Given the description of an element on the screen output the (x, y) to click on. 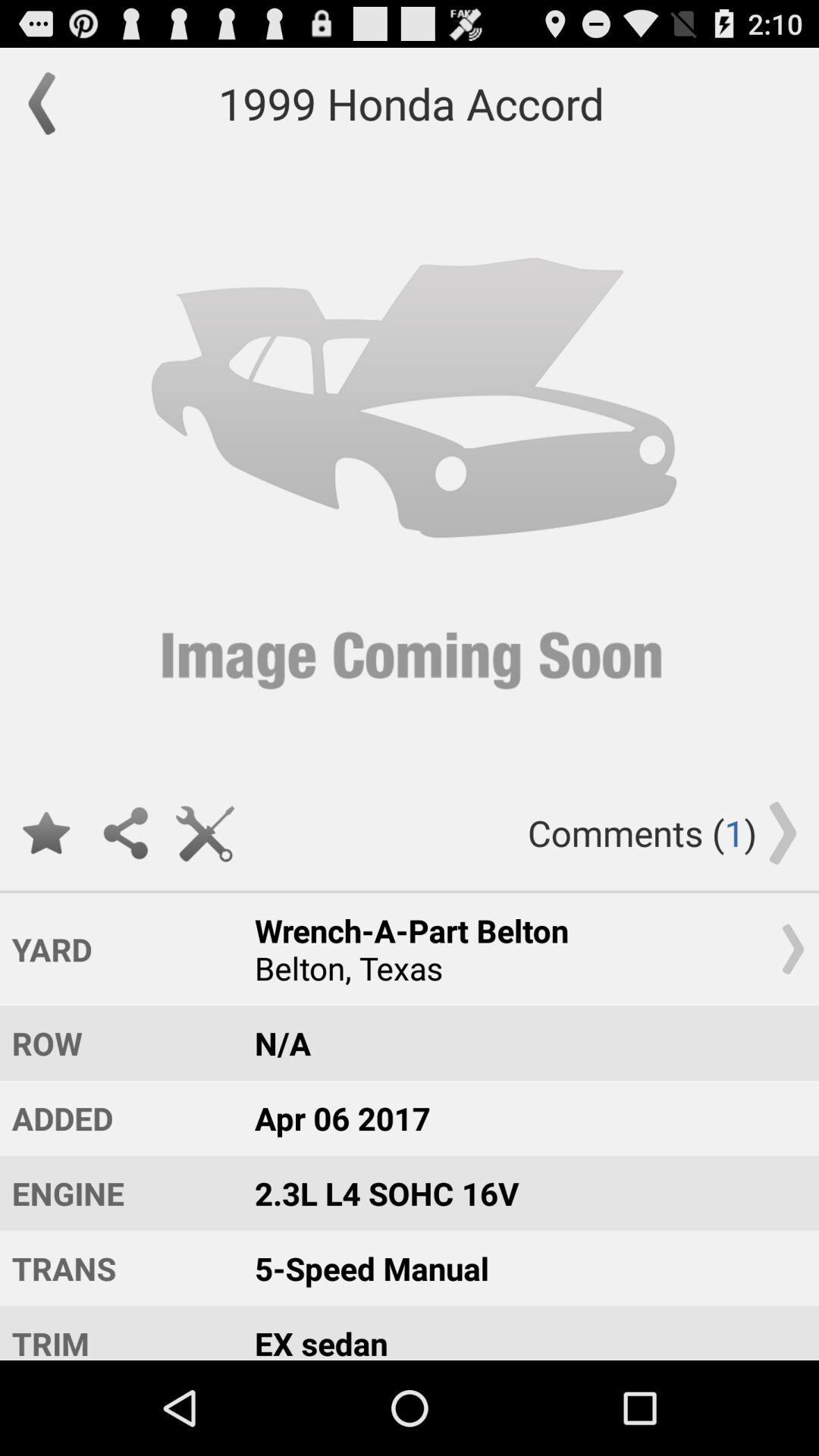
this option was favourite button (45, 833)
